Given the description of an element on the screen output the (x, y) to click on. 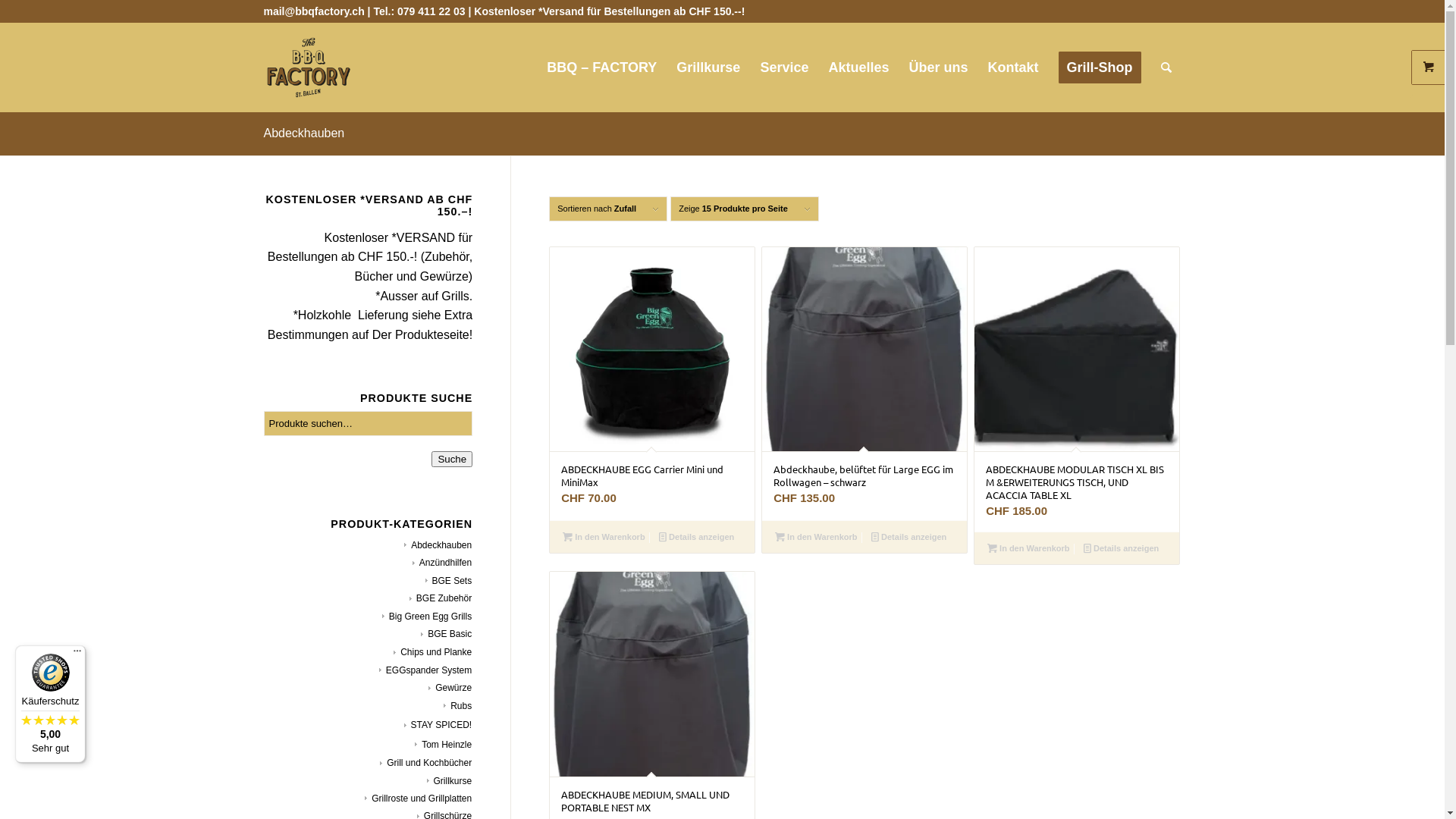
Abdeckhauben Element type: text (437, 544)
Details anzeigen Element type: text (1120, 547)
Grillroste und Grillplatten Element type: text (417, 798)
Details anzeigen Element type: text (908, 536)
website Element type: hover (308, 67)
BGE Sets Element type: text (448, 580)
Aktuelles Element type: text (858, 67)
Grillkurse Element type: text (449, 780)
EGGspander System Element type: text (425, 670)
Suche Element type: text (451, 459)
Details anzeigen Element type: text (696, 536)
Service Element type: text (783, 67)
mail@bbqfactory.ch Element type: text (313, 11)
STAY SPICED! Element type: text (437, 724)
Rubs Element type: text (457, 705)
Grill-Shop Element type: text (1099, 67)
In den Warenkorb Element type: text (603, 536)
Grillkurse Element type: text (707, 67)
In den Warenkorb Element type: text (1028, 547)
ABDECKHAUBE EGG Carrier Mini und MiniMax
CHF 70.00 Element type: text (651, 383)
BGE Basic Element type: text (445, 633)
Tom Heinzle Element type: text (442, 744)
Big Green Egg Grills Element type: text (426, 616)
Chips und Planke Element type: text (432, 651)
In den Warenkorb Element type: text (815, 536)
Kontakt Element type: text (1013, 67)
Tel.: 079 411 22 03 Element type: text (418, 11)
